Given the description of an element on the screen output the (x, y) to click on. 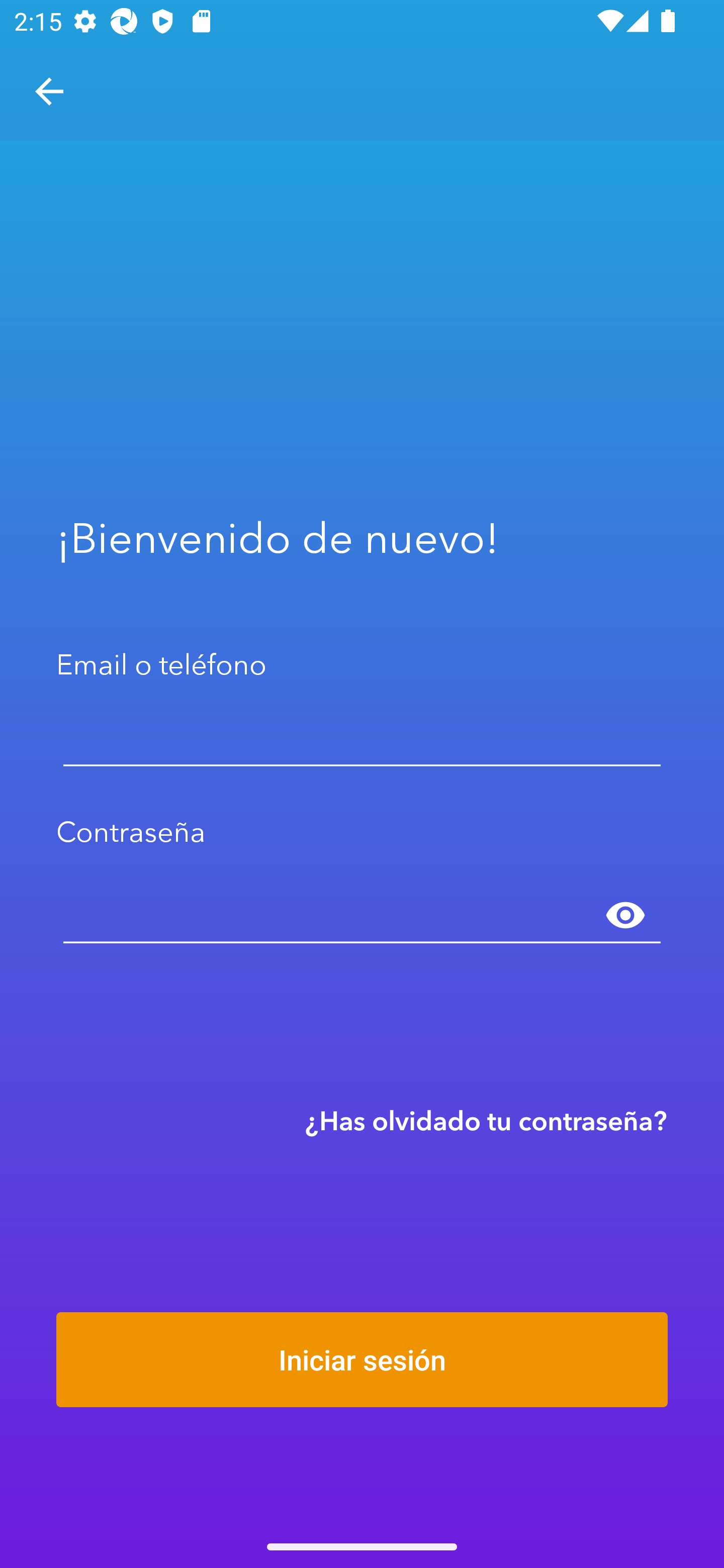
Navegar hacia arriba (49, 91)
Mostrar contraseña (625, 915)
¿Has olvidado tu contraseña? (486, 1119)
Iniciar sesión (361, 1359)
